Given the description of an element on the screen output the (x, y) to click on. 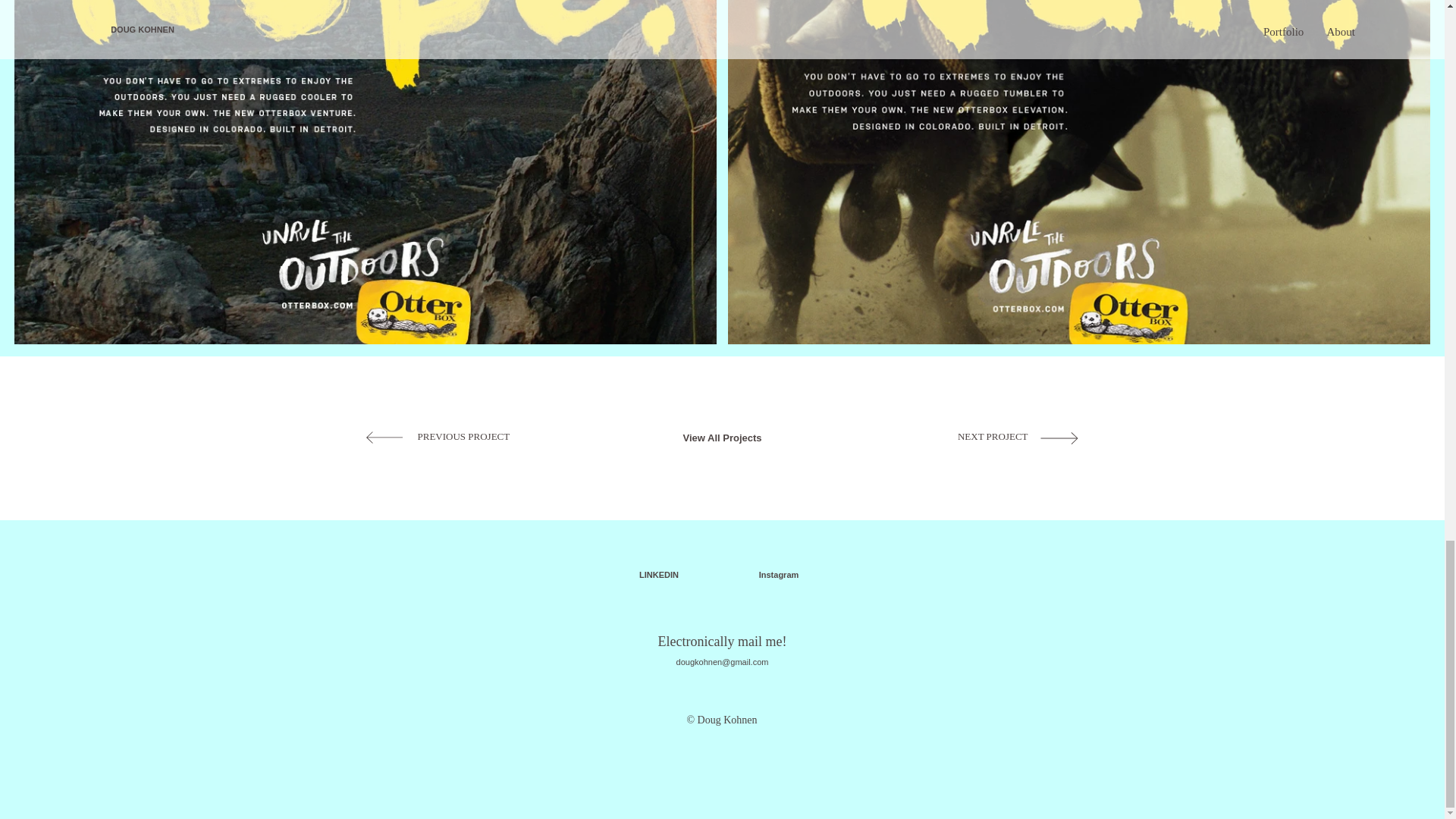
View All Projects (722, 437)
LINKEDIN (659, 575)
Instagram (778, 575)
